Given the description of an element on the screen output the (x, y) to click on. 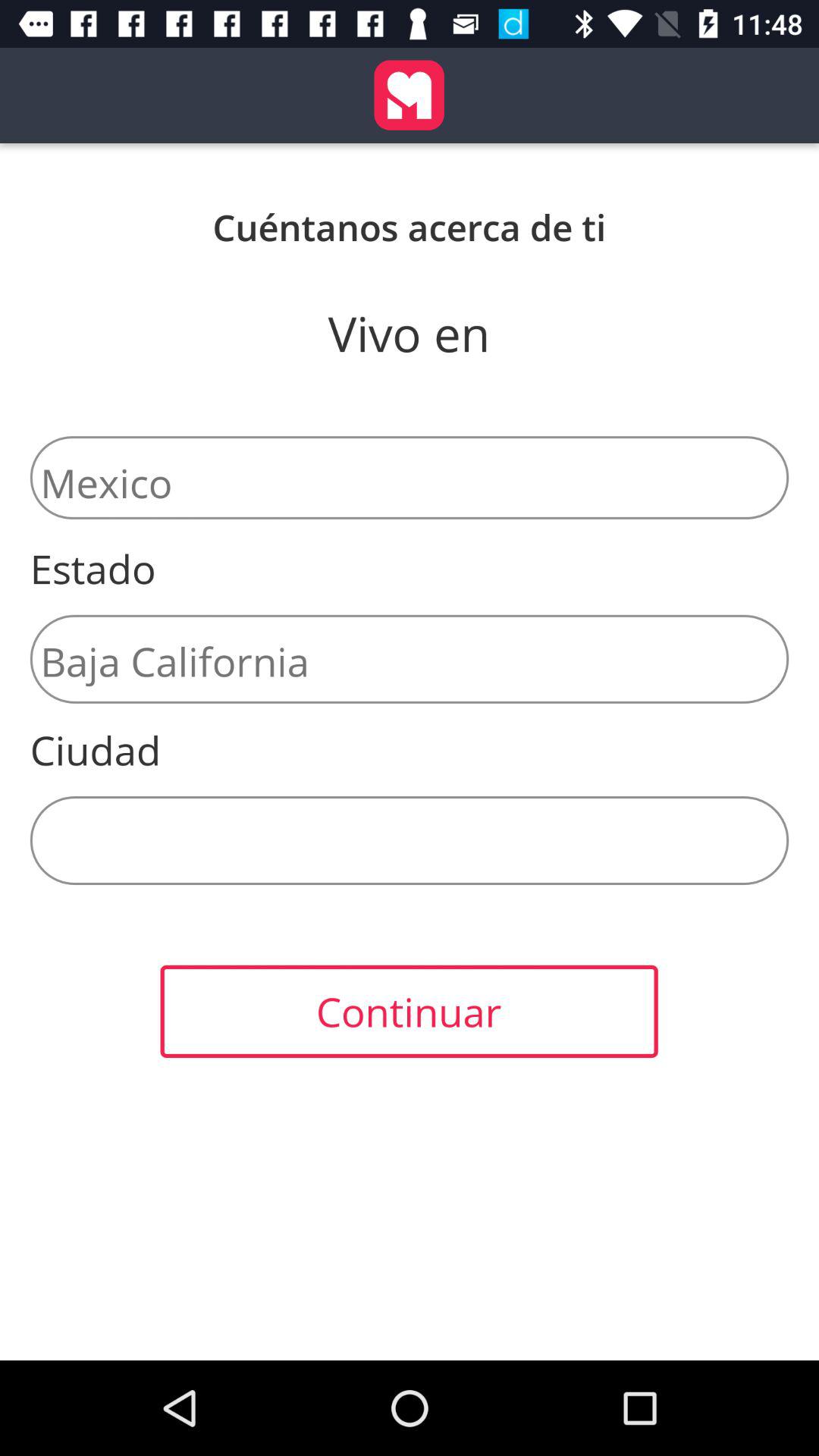
scroll to baja california (409, 658)
